Given the description of an element on the screen output the (x, y) to click on. 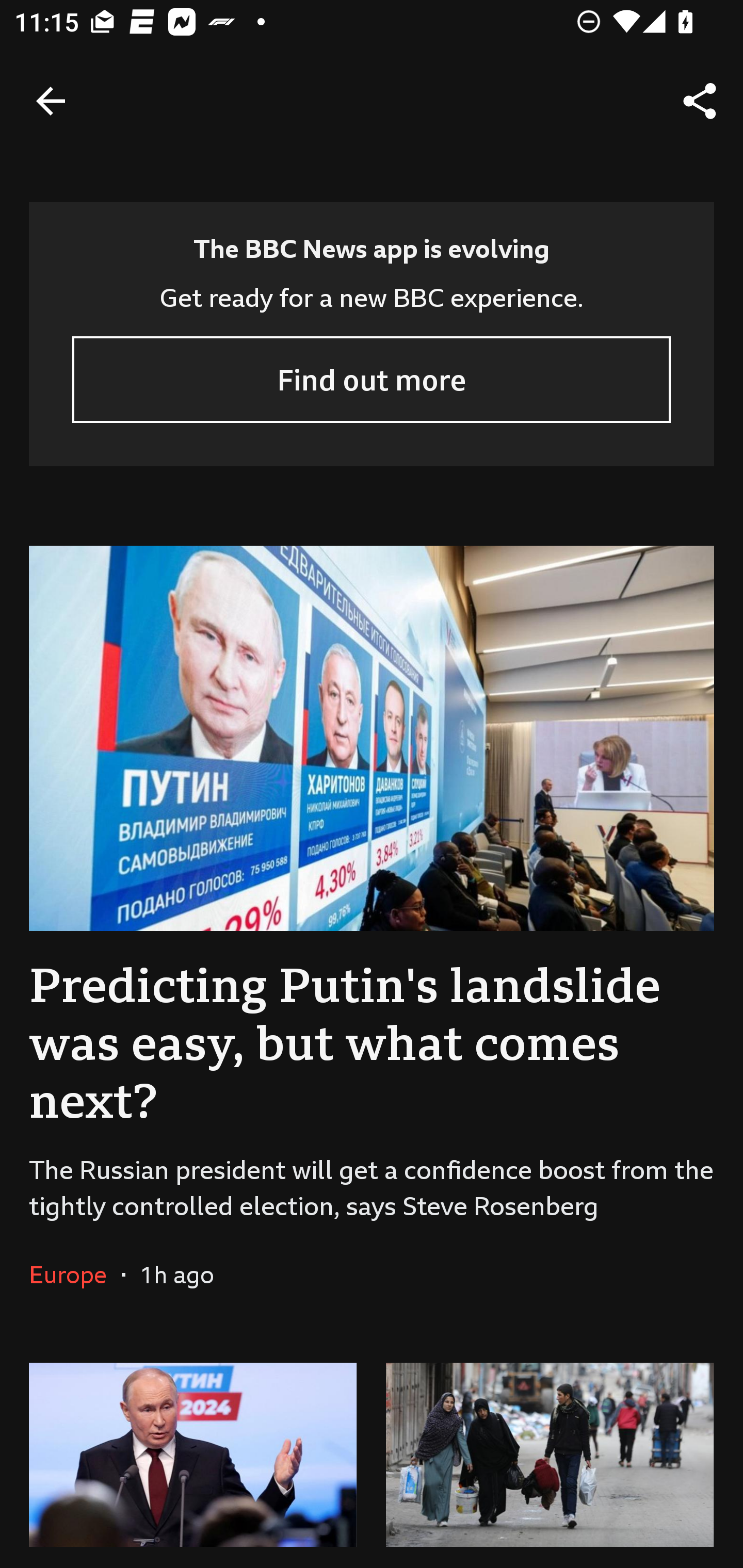
Back (50, 101)
Share (699, 101)
Find out more (371, 379)
Europe In the section Europe (74, 1274)
LIVE Live: (192, 1447)
LIVE Live: (549, 1447)
